Given the description of an element on the screen output the (x, y) to click on. 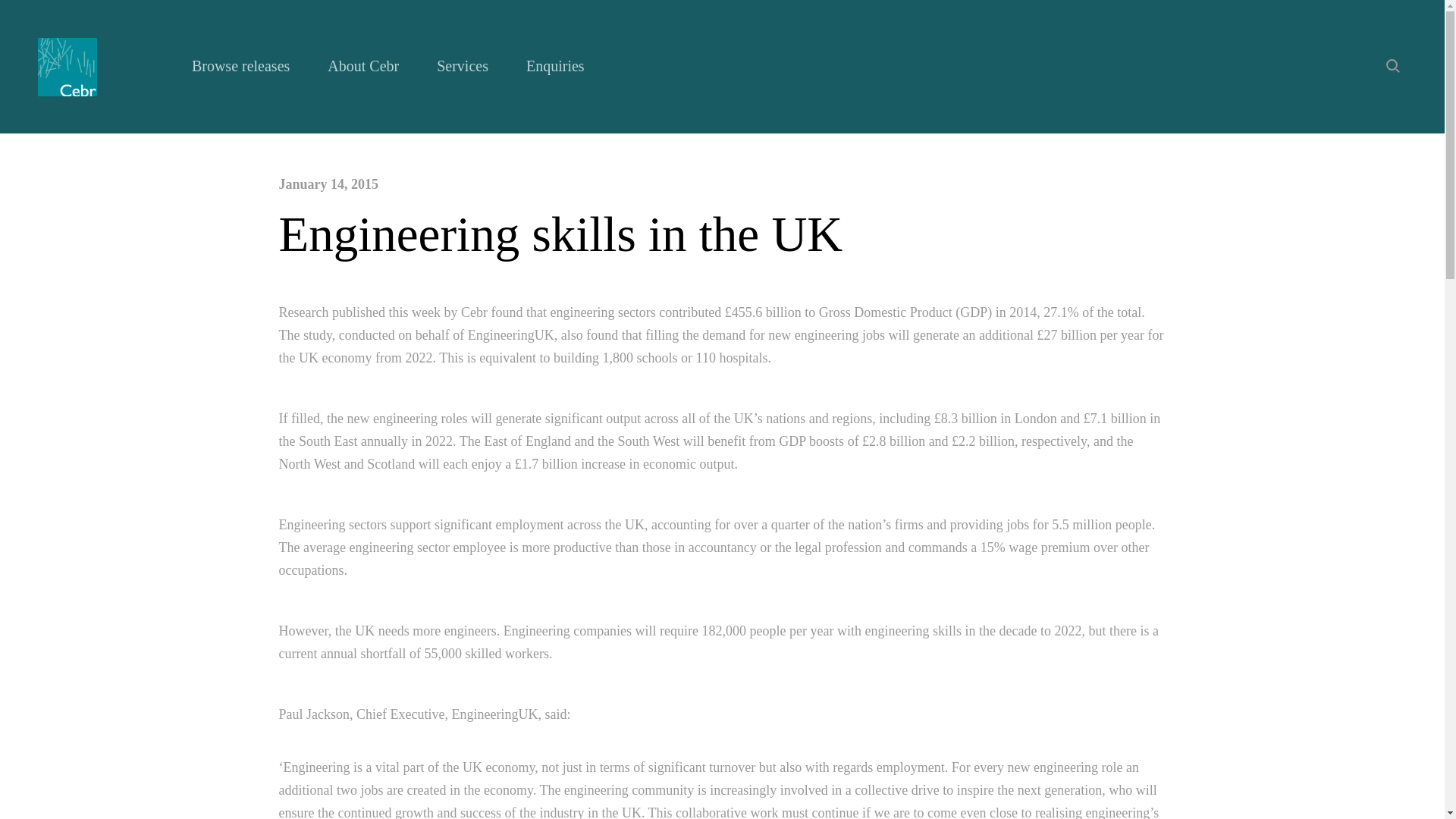
Enquiries (555, 65)
About Cebr (362, 65)
Services (461, 65)
GO (1420, 93)
Browse releases (240, 65)
